Given the description of an element on the screen output the (x, y) to click on. 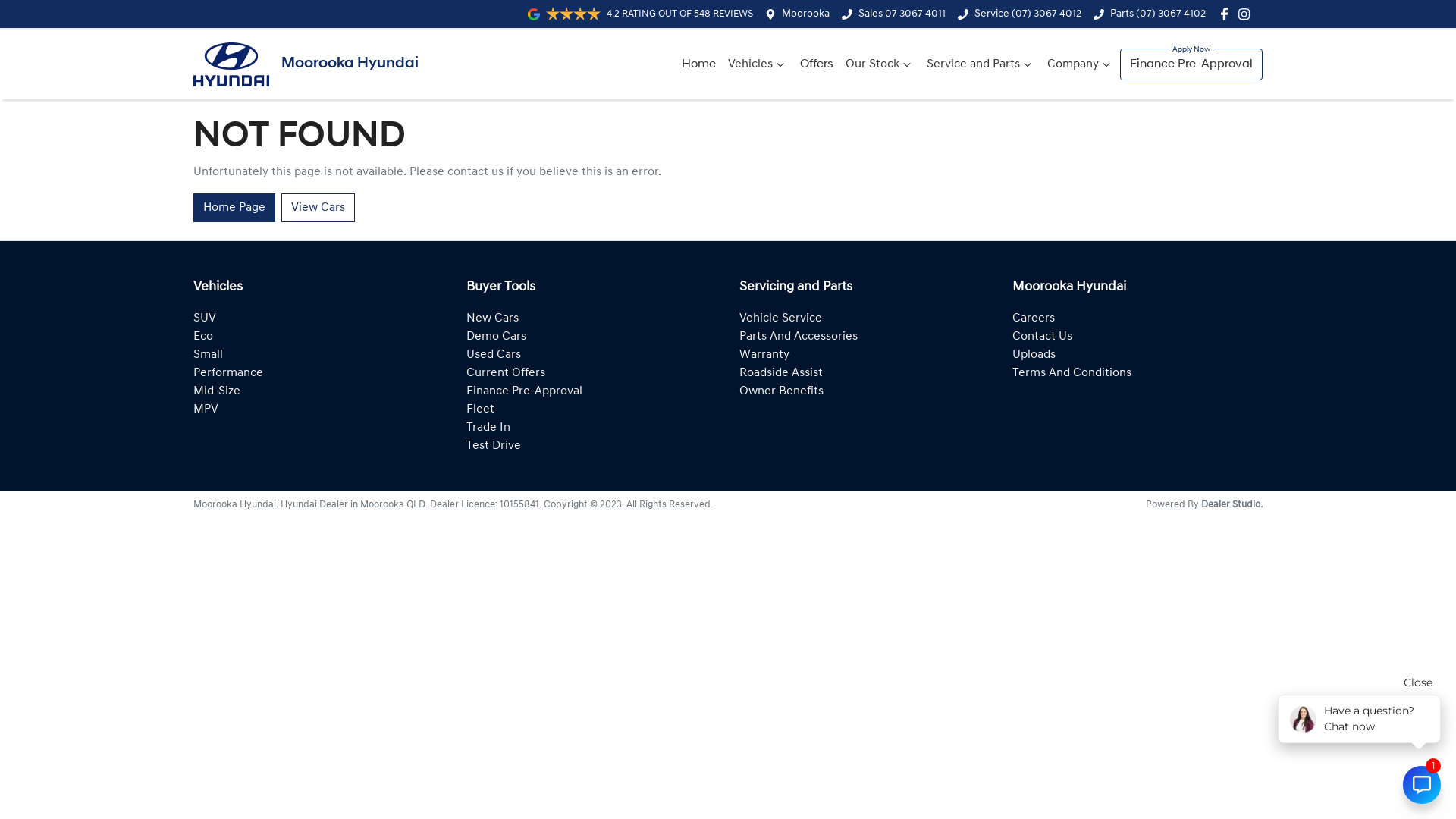
Sales 07 3067 4011 Element type: text (901, 13)
Fleet Element type: text (480, 409)
Offers Element type: text (816, 64)
MPV Element type: text (205, 409)
Warranty Element type: text (764, 354)
Small Element type: text (207, 354)
Mid-Size Element type: text (216, 391)
Test Drive Element type: text (493, 445)
New Cars Element type: text (492, 318)
Moorooka Element type: text (805, 13)
Service and Parts Element type: text (980, 64)
Uploads Element type: text (1033, 354)
Eco Element type: text (203, 336)
Roadside Assist Element type: text (780, 373)
Parts And Accessories Element type: text (798, 336)
Home Element type: text (698, 64)
Owner Benefits Element type: text (781, 391)
Home Page Element type: text (234, 207)
Demo Cars Element type: text (496, 336)
Finance Pre-Approval Element type: text (1191, 64)
Finance Pre-Approval Element type: text (524, 391)
Contact Us Element type: text (1042, 336)
Performance Element type: text (228, 373)
View Cars Element type: text (317, 207)
Service (07) 3067 4012 Element type: text (1027, 13)
Vehicles Element type: text (757, 64)
Company Element type: text (1080, 64)
Terms And Conditions Element type: text (1071, 373)
SUV Element type: text (204, 318)
Used Cars Element type: text (493, 354)
Careers Element type: text (1033, 318)
Dealer Studio. Element type: text (1231, 504)
Current Offers Element type: text (505, 373)
Trade In Element type: text (488, 427)
Our Stock Element type: text (879, 64)
Vehicle Service Element type: text (780, 318)
Parts (07) 3067 4102 Element type: text (1157, 13)
Moorooka Hyundai Element type: text (305, 64)
